Given the description of an element on the screen output the (x, y) to click on. 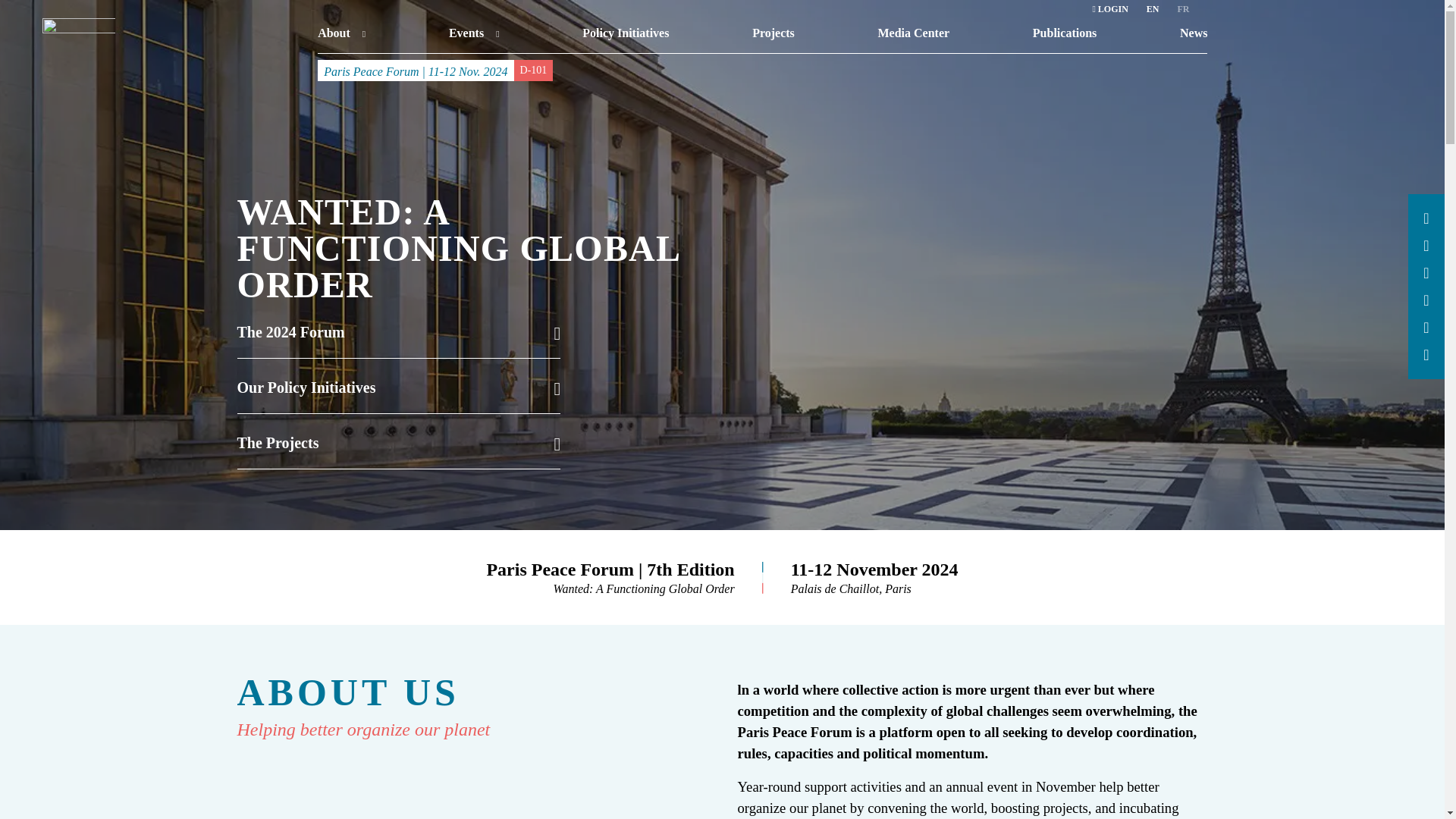
About (341, 33)
Events (473, 33)
LOGIN (1109, 8)
Projects (773, 33)
News (1193, 33)
Paris Peace Forum (78, 42)
FR (1182, 8)
Publications (1064, 33)
EN (1152, 8)
Policy Initiatives (625, 33)
